Given the description of an element on the screen output the (x, y) to click on. 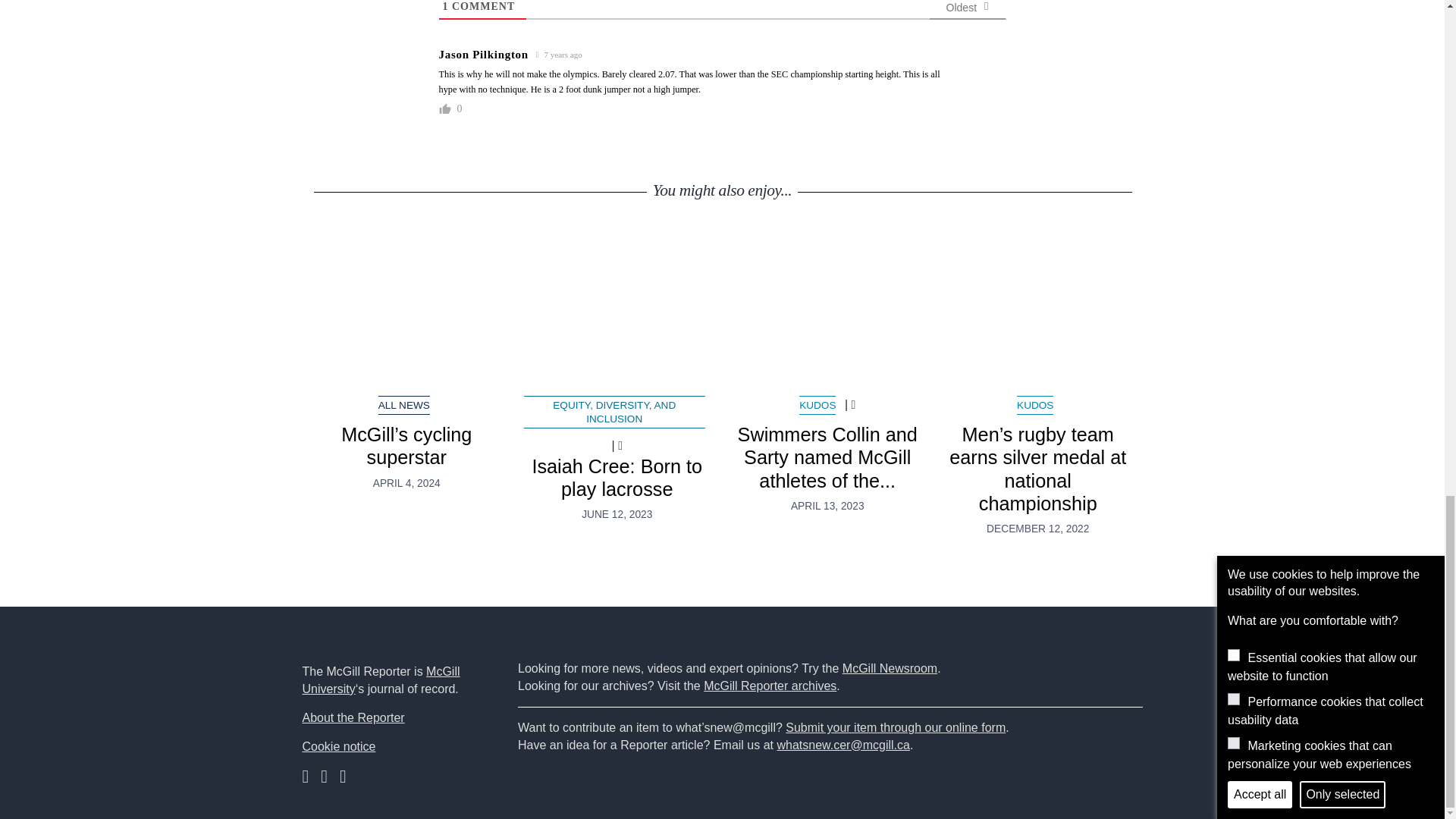
EQUITY, DIVERSITY, AND INCLUSION (614, 411)
McGill University (380, 679)
Isaiah Cree: Born to play lacrosse (617, 309)
Isaiah Cree: Born to play lacrosse (616, 477)
Swimmers Collin and Sarty named McGill athletes of the... (827, 457)
KUDOS (1034, 404)
ALL NEWS (403, 404)
KUDOS (817, 404)
About the Reporter (352, 717)
Cookie notice (338, 746)
